Given the description of an element on the screen output the (x, y) to click on. 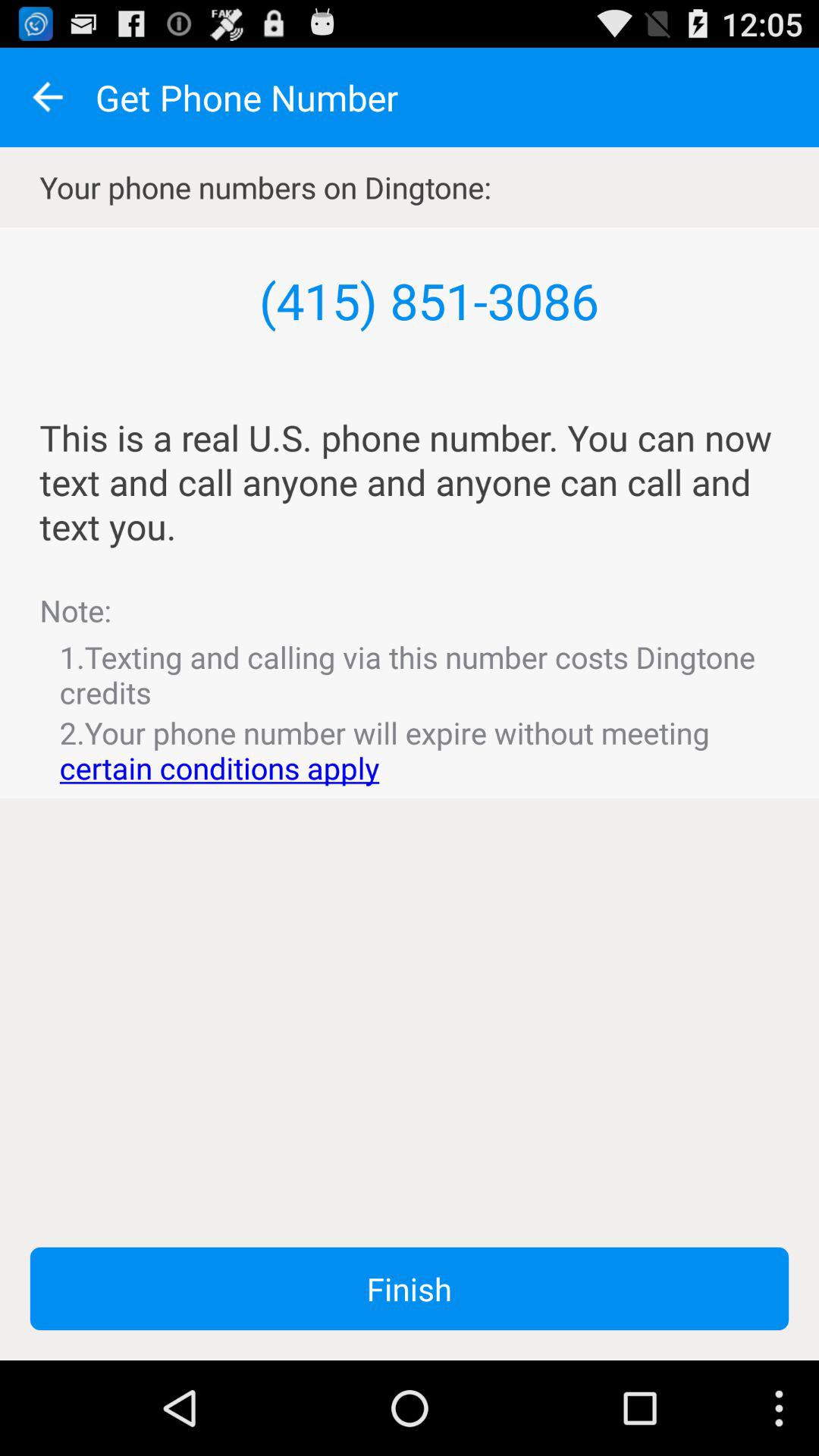
jump until 2 your phone icon (409, 750)
